Given the description of an element on the screen output the (x, y) to click on. 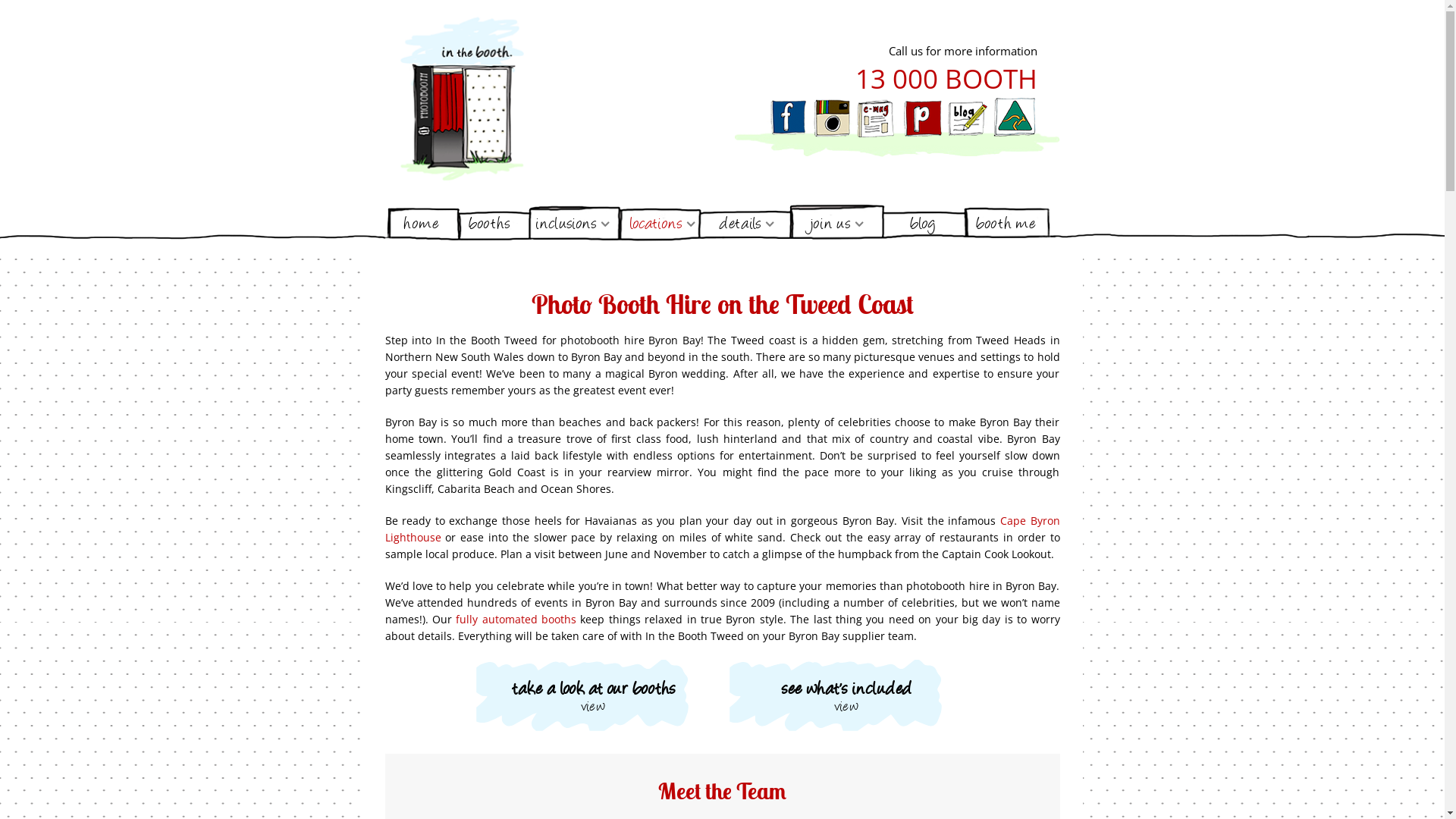
see what's included
view Element type: text (846, 695)
booths Element type: text (490, 223)
booth me Element type: text (1005, 223)
Cape Byron Lighthouse Element type: text (722, 528)
13 000 BOOTH Element type: text (946, 78)
take a look at our booths
view Element type: text (593, 695)
details Element type: text (745, 223)
blog Element type: text (922, 223)
home Element type: text (421, 223)
inclusions Element type: text (572, 223)
fully automated booths Element type: text (515, 618)
locations Element type: text (661, 223)
join us Element type: text (836, 223)
